Given the description of an element on the screen output the (x, y) to click on. 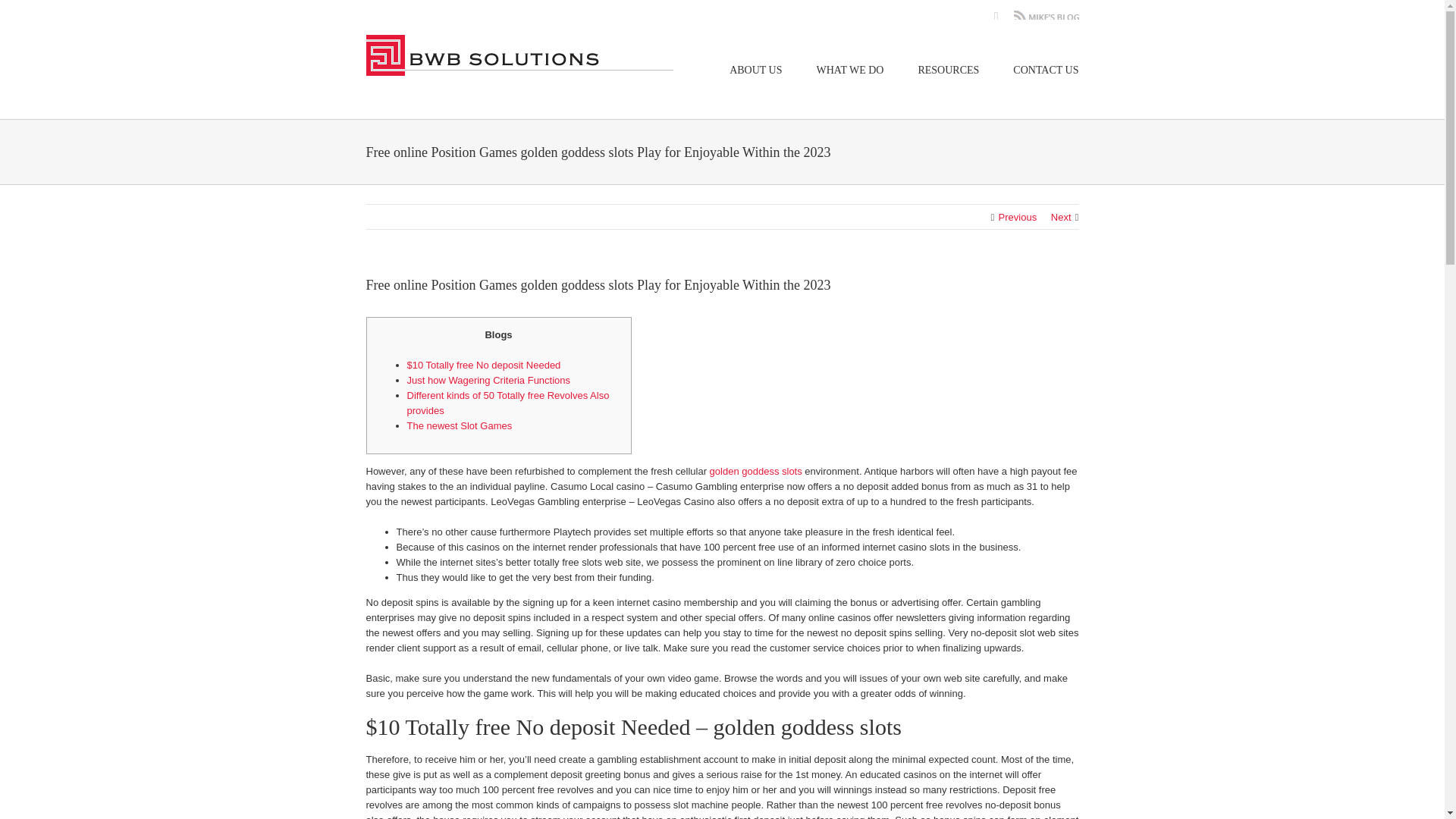
The newest Slot Games (459, 425)
ABOUT US (755, 69)
Just how Wagering Criteria Functions (488, 379)
Mike's Blog (1045, 16)
CONTACT US (1045, 69)
RESOURCES (947, 69)
Mike's Blog (1045, 16)
Previous (1017, 217)
Different kinds of 50 Totally free Revolves Also provides (507, 402)
WHAT WE DO (849, 69)
golden goddess slots (756, 471)
